Given the description of an element on the screen output the (x, y) to click on. 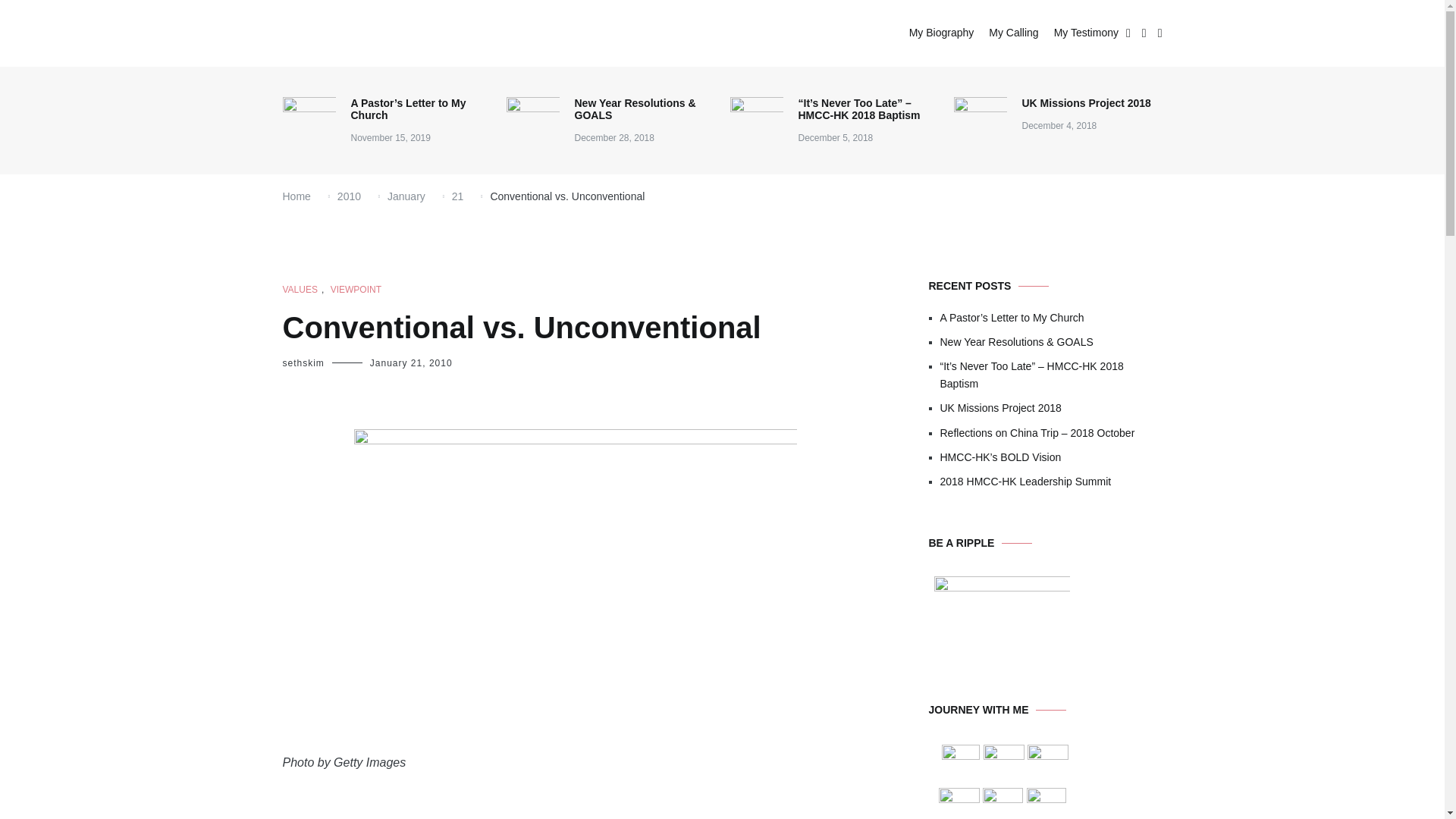
2010 (349, 196)
VIEWPOINT (355, 289)
My Calling (1013, 33)
sethskim (302, 362)
My Testimony (1086, 33)
Home (296, 196)
UK Missions Project 2018 (1086, 102)
UK Missions Project 2018 (1050, 407)
2018 HMCC-HK Leadership Summit (1050, 481)
VALUES (299, 289)
January 21, 2010 (410, 362)
January (406, 196)
My Biography (941, 33)
21 (457, 196)
